Given the description of an element on the screen output the (x, y) to click on. 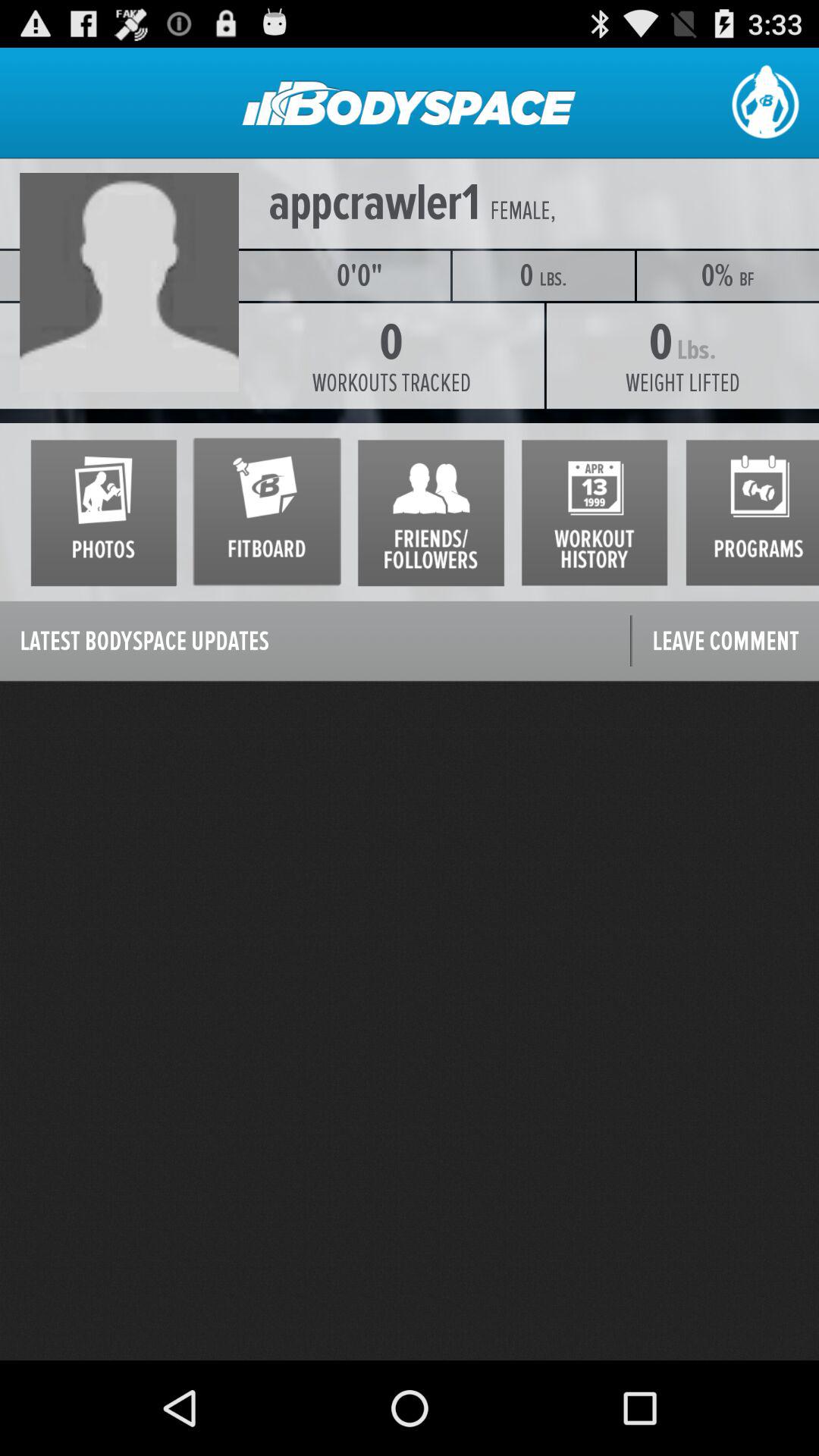
press the item to the left of leave comment item (316, 641)
